Given the description of an element on the screen output the (x, y) to click on. 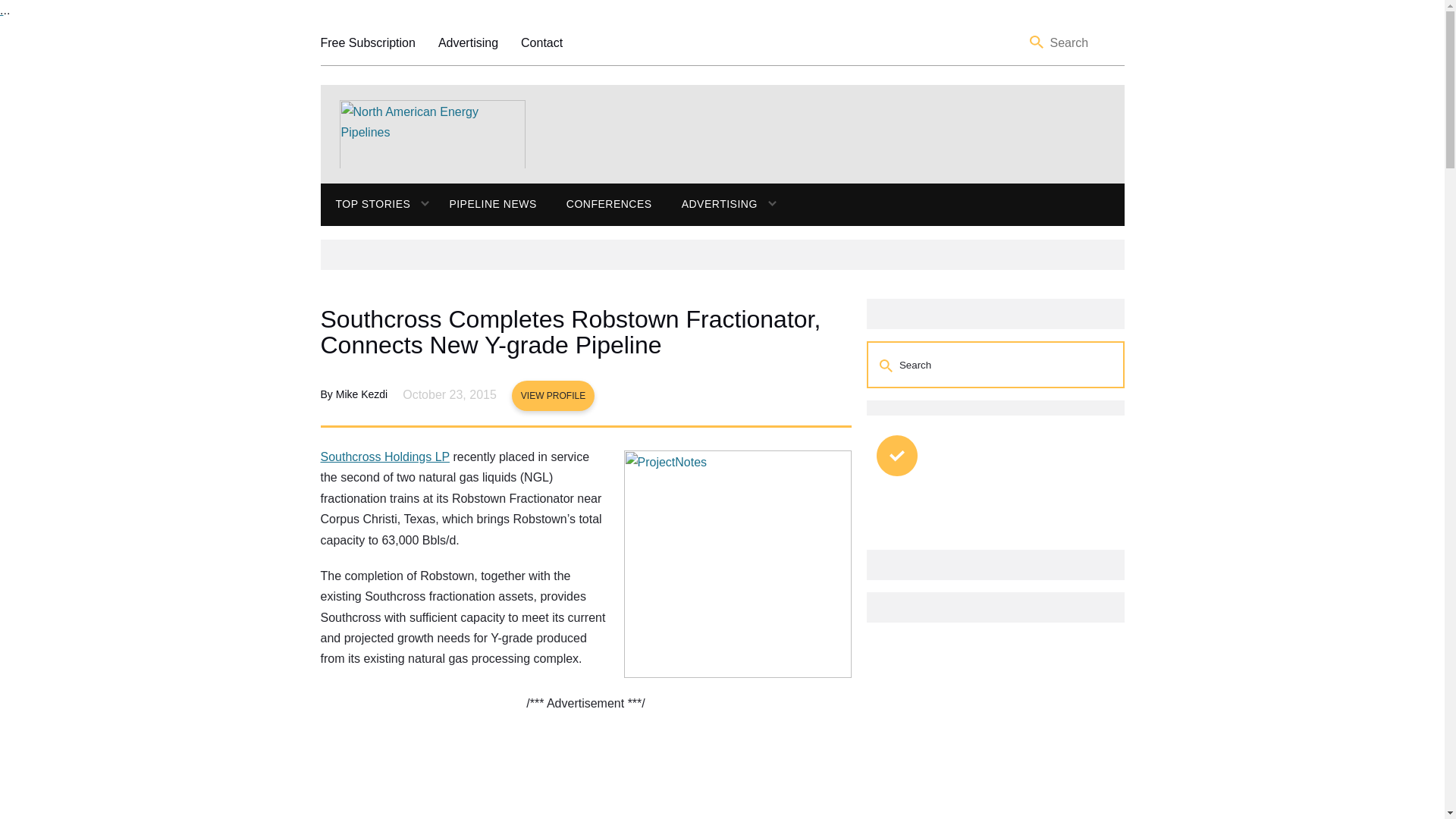
Contact (541, 42)
ADVERTISING (711, 204)
Free Magazine Subscription (367, 42)
VIEW PROFILE (553, 395)
CONFERENCES (608, 204)
Search (1037, 43)
Search (887, 365)
PIPELINE NEWS (491, 204)
TOP STORIES (365, 204)
Southcross Holdings LP (384, 456)
Free Subscription (367, 42)
Advertising (467, 42)
